Given the description of an element on the screen output the (x, y) to click on. 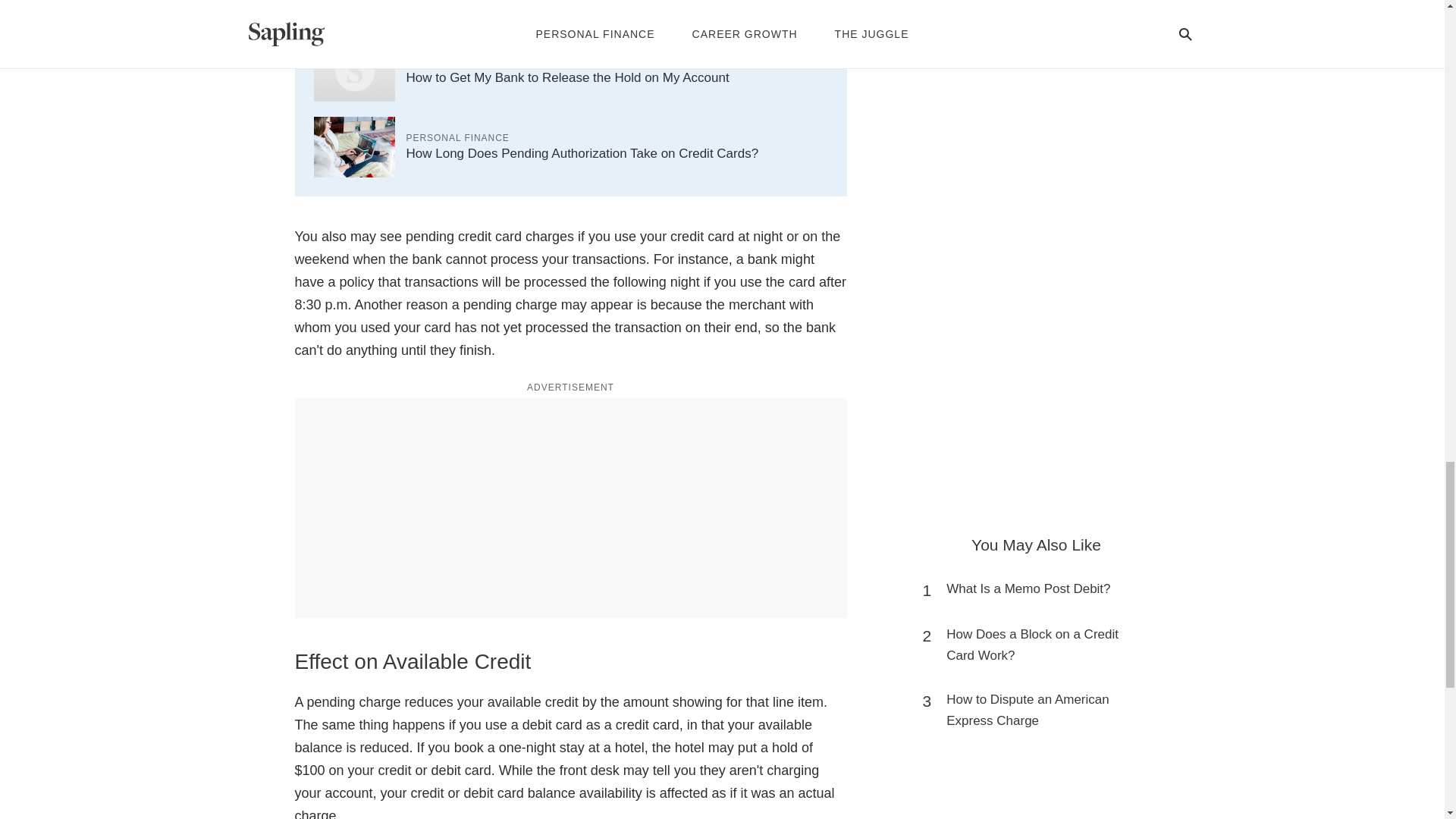
How Long Does Pending Authorization Take on Credit Cards? (582, 153)
What Is a Memo Post Debit? (1027, 588)
How Does a Block on a Credit Card Work? (1043, 645)
How to Get My Bank to Release the Hold on My Account (567, 77)
How to Dispute an American Express Charge (1043, 710)
What Are Pending Charges in a Checking Account? (553, 4)
